Given the description of an element on the screen output the (x, y) to click on. 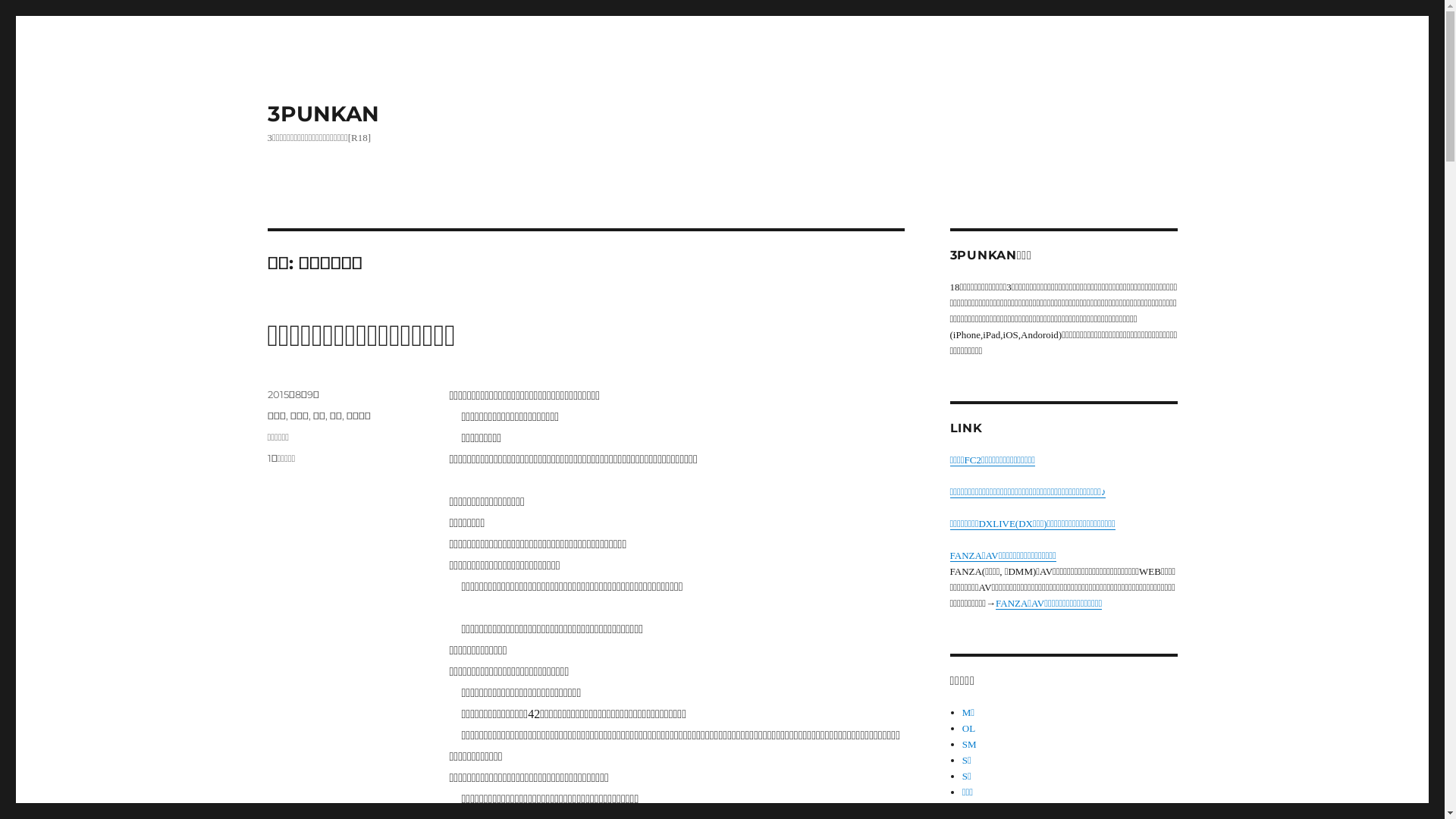
3PUNKAN Element type: text (322, 113)
OL Element type: text (968, 728)
SM Element type: text (969, 743)
